Given the description of an element on the screen output the (x, y) to click on. 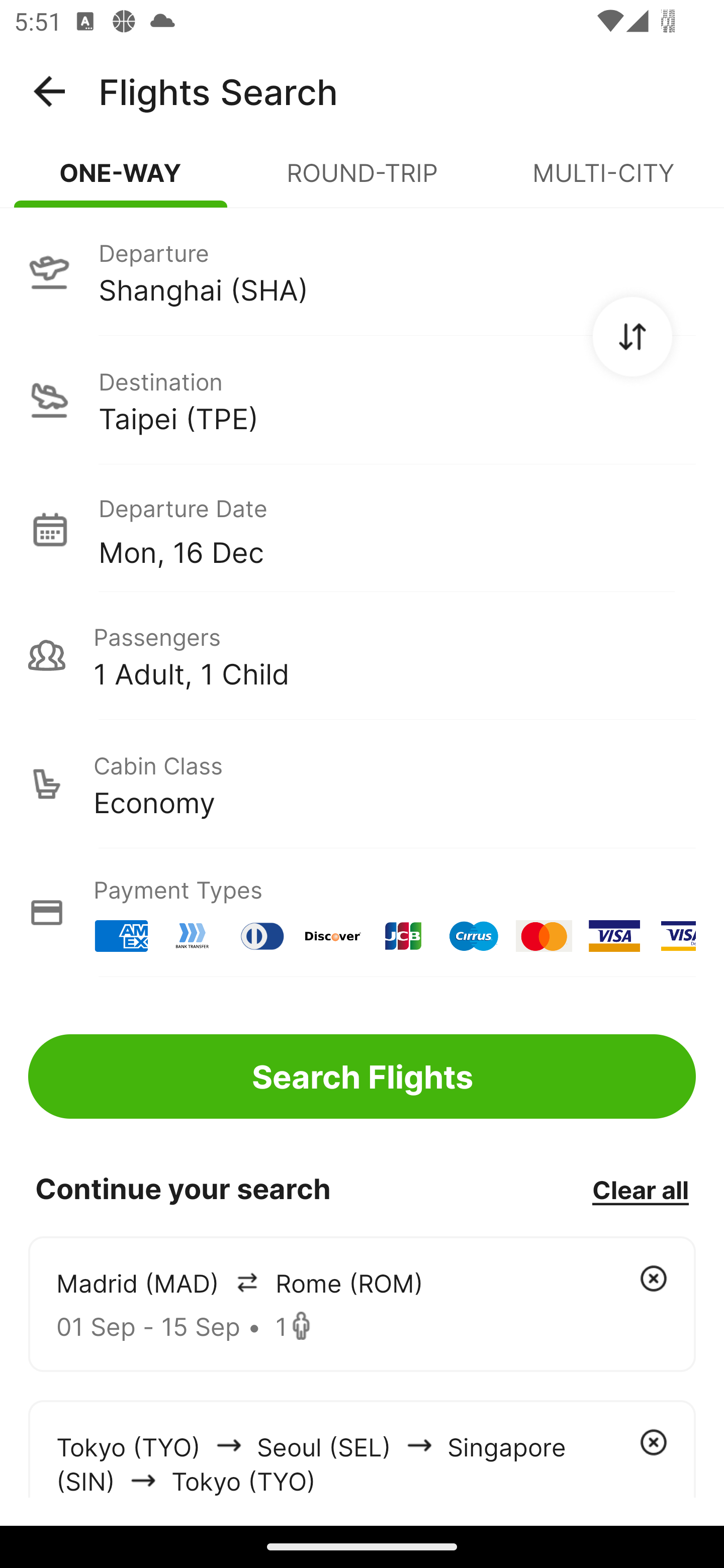
ONE-WAY (120, 180)
ROUND-TRIP (361, 180)
MULTI-CITY (603, 180)
Departure Shanghai (SHA) (362, 270)
Destination Taipei (TPE) (362, 400)
Departure Date Mon, 16 Dec (396, 528)
Passengers 1 Adult, 1 Child (362, 655)
Cabin Class Economy (362, 783)
Payment Types (362, 912)
Search Flights (361, 1075)
Clear all (640, 1189)
